Given the description of an element on the screen output the (x, y) to click on. 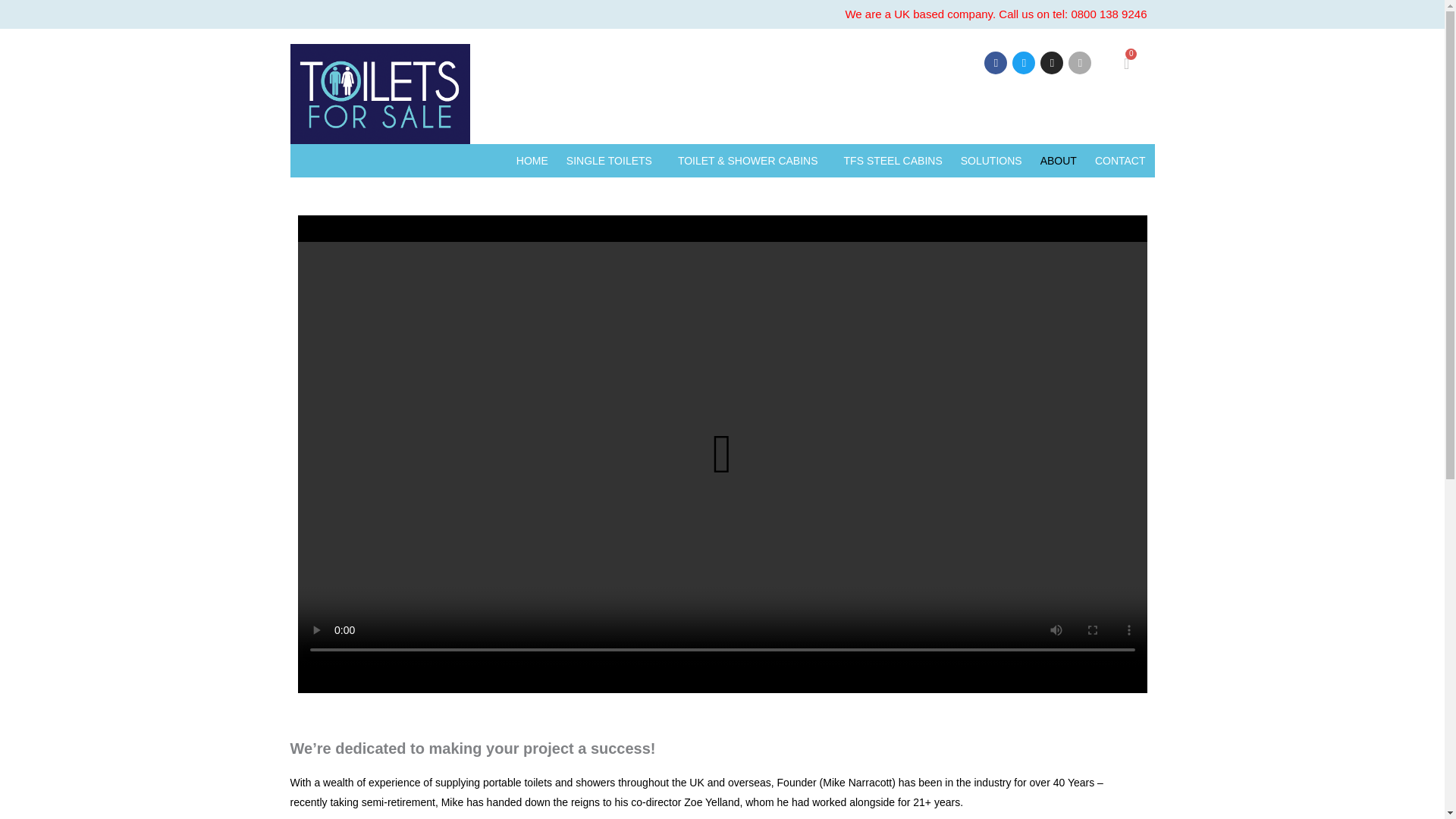
Envelope (1079, 62)
0 (1126, 61)
Instagram (1051, 62)
Facebook (995, 62)
CONTACT (1120, 160)
Twitter (1023, 62)
SINGLE TOILETS (612, 160)
ABOUT (1058, 160)
TFS STEEL CABINS (893, 160)
HOME (531, 160)
SOLUTIONS (991, 160)
